Given the description of an element on the screen output the (x, y) to click on. 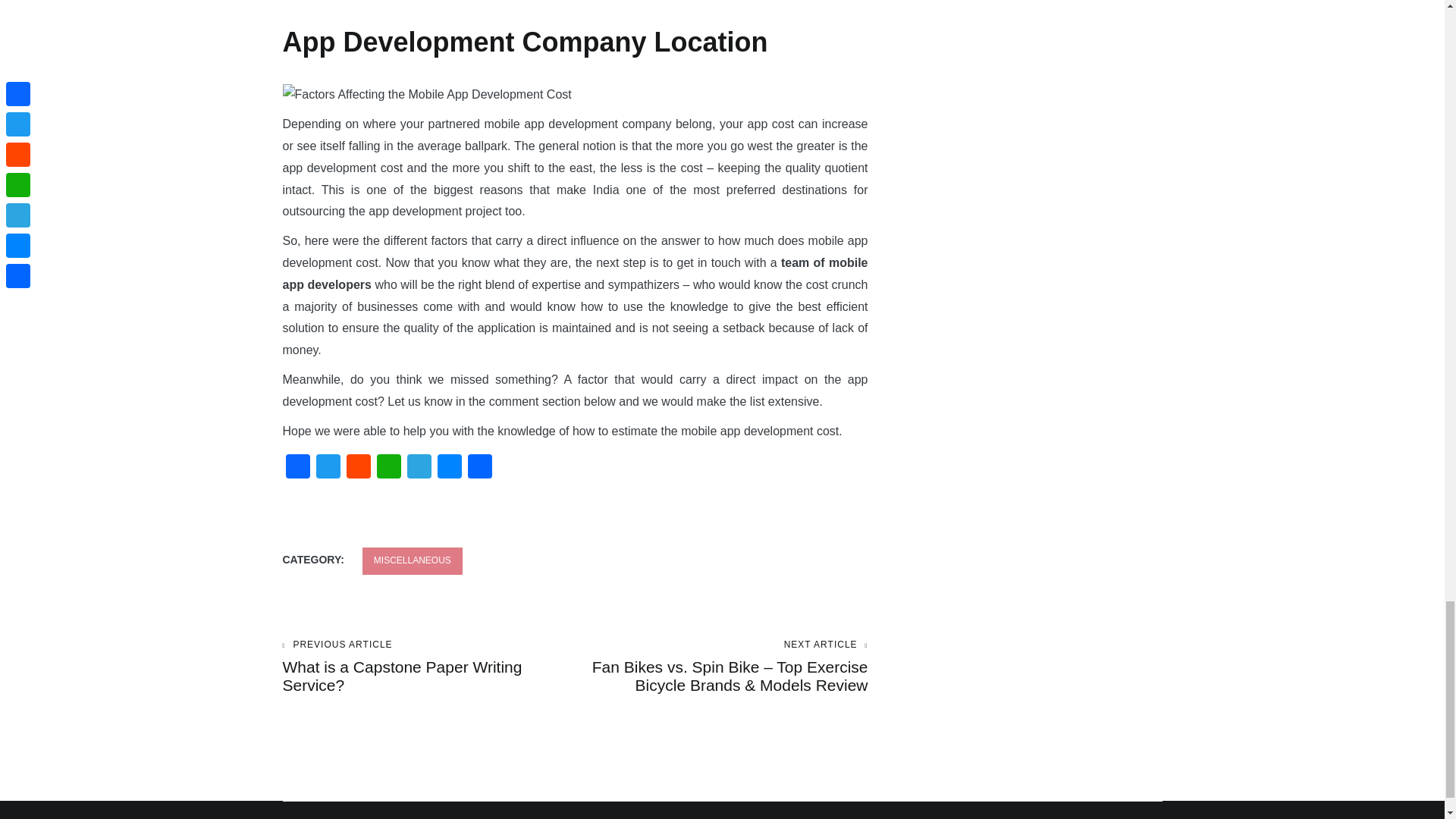
Reddit (357, 468)
WhatsApp (387, 468)
Share (479, 468)
Twitter (327, 468)
Messenger (448, 468)
Messenger (448, 468)
Factors Affecting the Mobile App Development Cost (426, 95)
WhatsApp (387, 468)
MISCELLANEOUS (412, 560)
Telegram (418, 468)
Facebook (297, 468)
Twitter (327, 468)
Reddit (357, 468)
Facebook (428, 666)
